Given the description of an element on the screen output the (x, y) to click on. 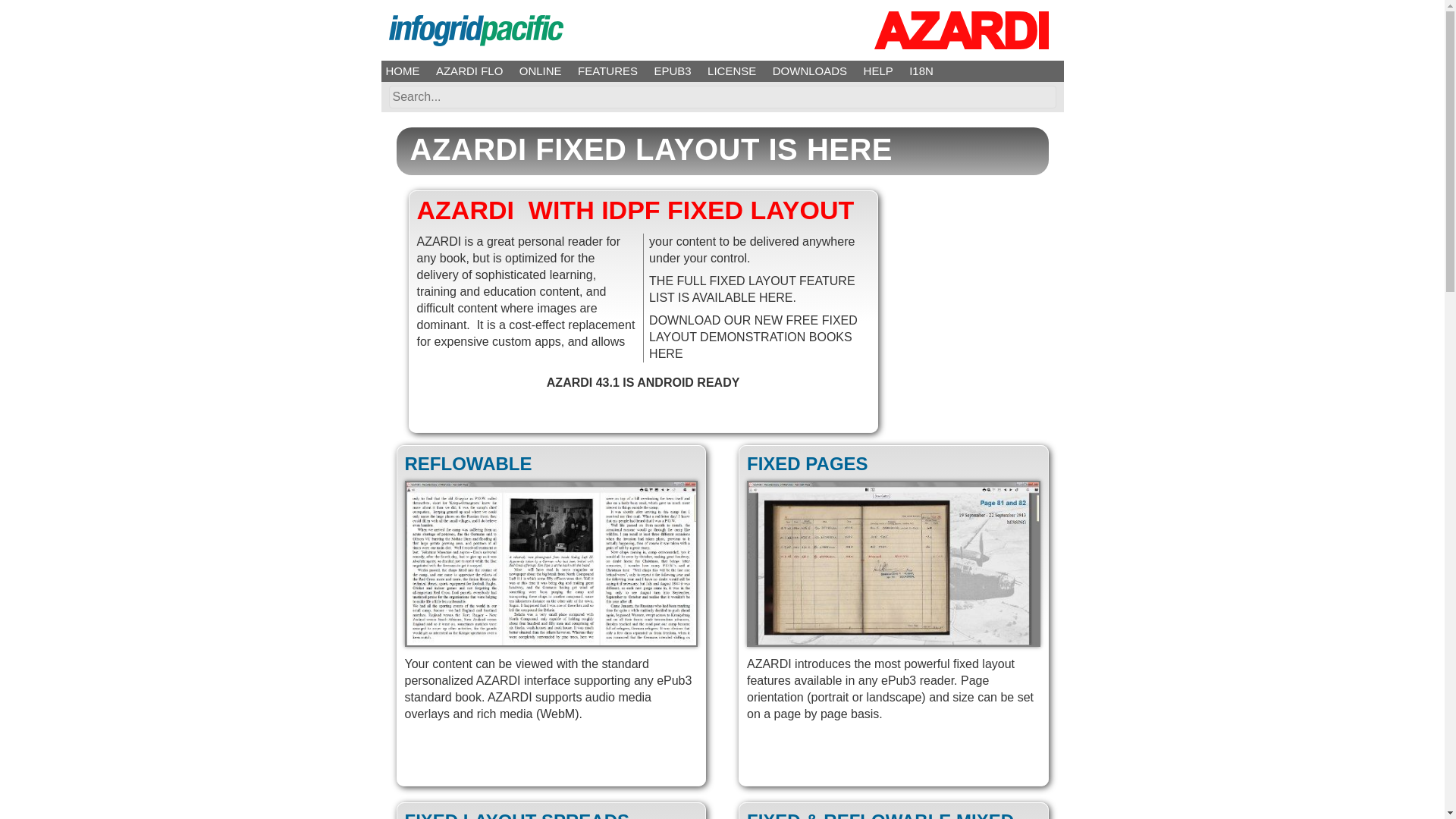
Infogrid Pacific- The Science of information (475, 30)
DOWNLOADS (810, 70)
I18N (920, 70)
AZARDI FLO (468, 70)
FEATURES (607, 70)
HELP (878, 70)
EPUB3 (671, 70)
AZARDI (960, 30)
LICENSE (731, 70)
HOME (402, 70)
